Given the description of an element on the screen output the (x, y) to click on. 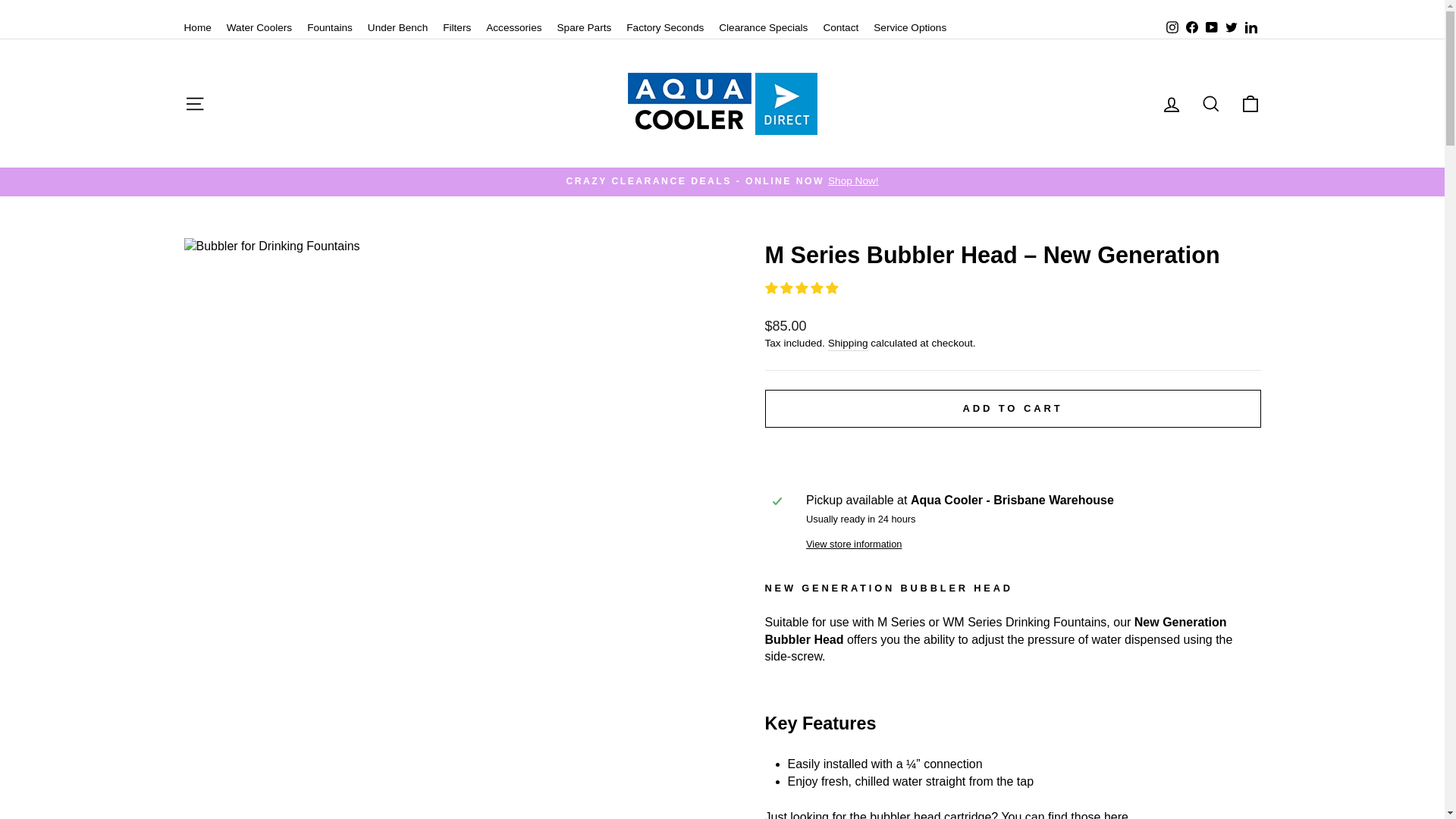
Aqua Cooler Direct on LinkedIn (1250, 27)
Aqua Cooler Direct on Twitter (1230, 27)
Aqua Cooler Direct on Facebook (1190, 27)
Aqua Cooler Direct on Instagram (1170, 27)
Aqua Cooler Direct on YouTube (1211, 27)
